Given the description of an element on the screen output the (x, y) to click on. 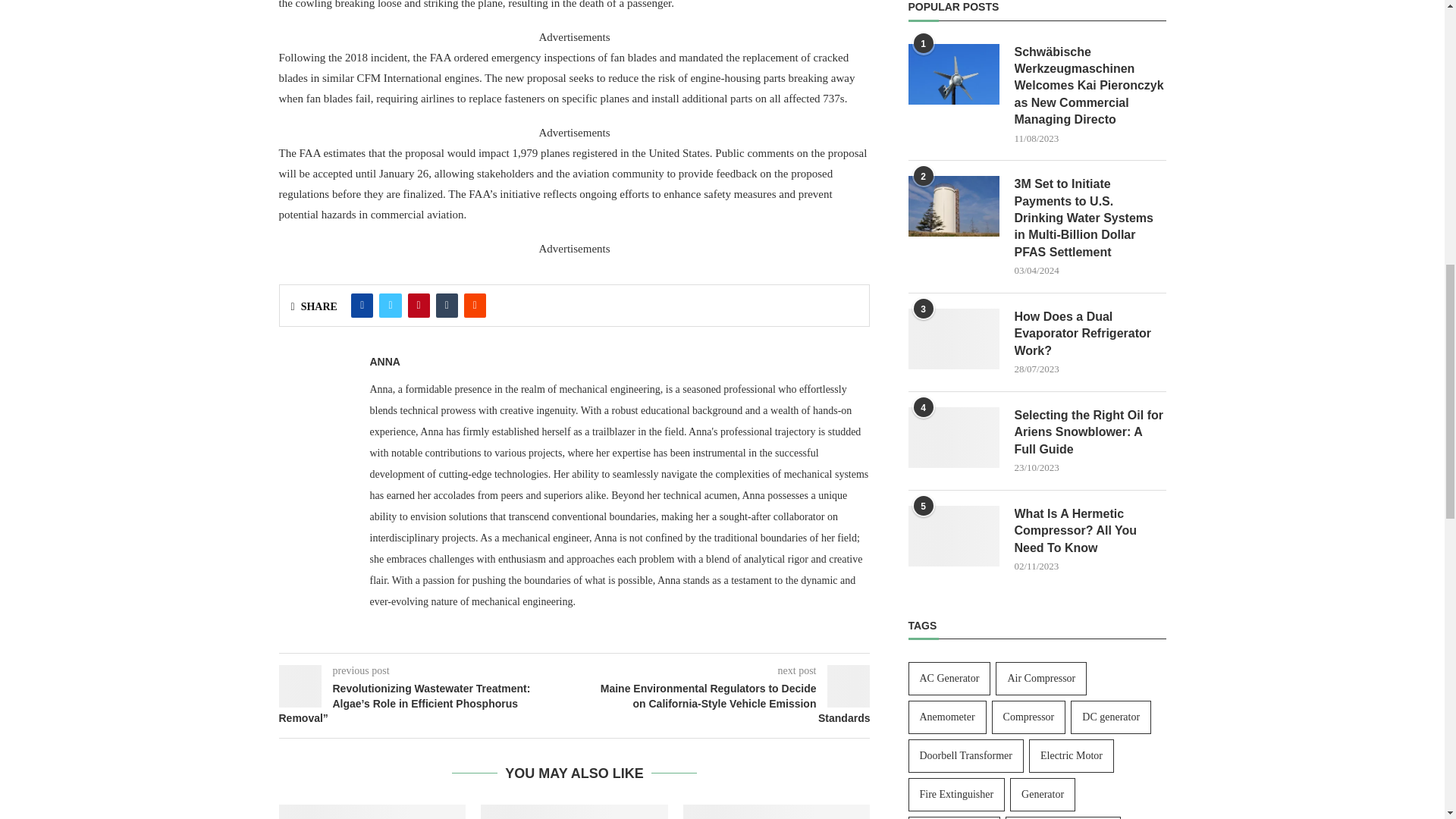
Why Do We Use A Wind Vane And Anemometer? (372, 811)
Author Anna (384, 361)
What Is The Meter For Wind Direction? (574, 811)
